Given the description of an element on the screen output the (x, y) to click on. 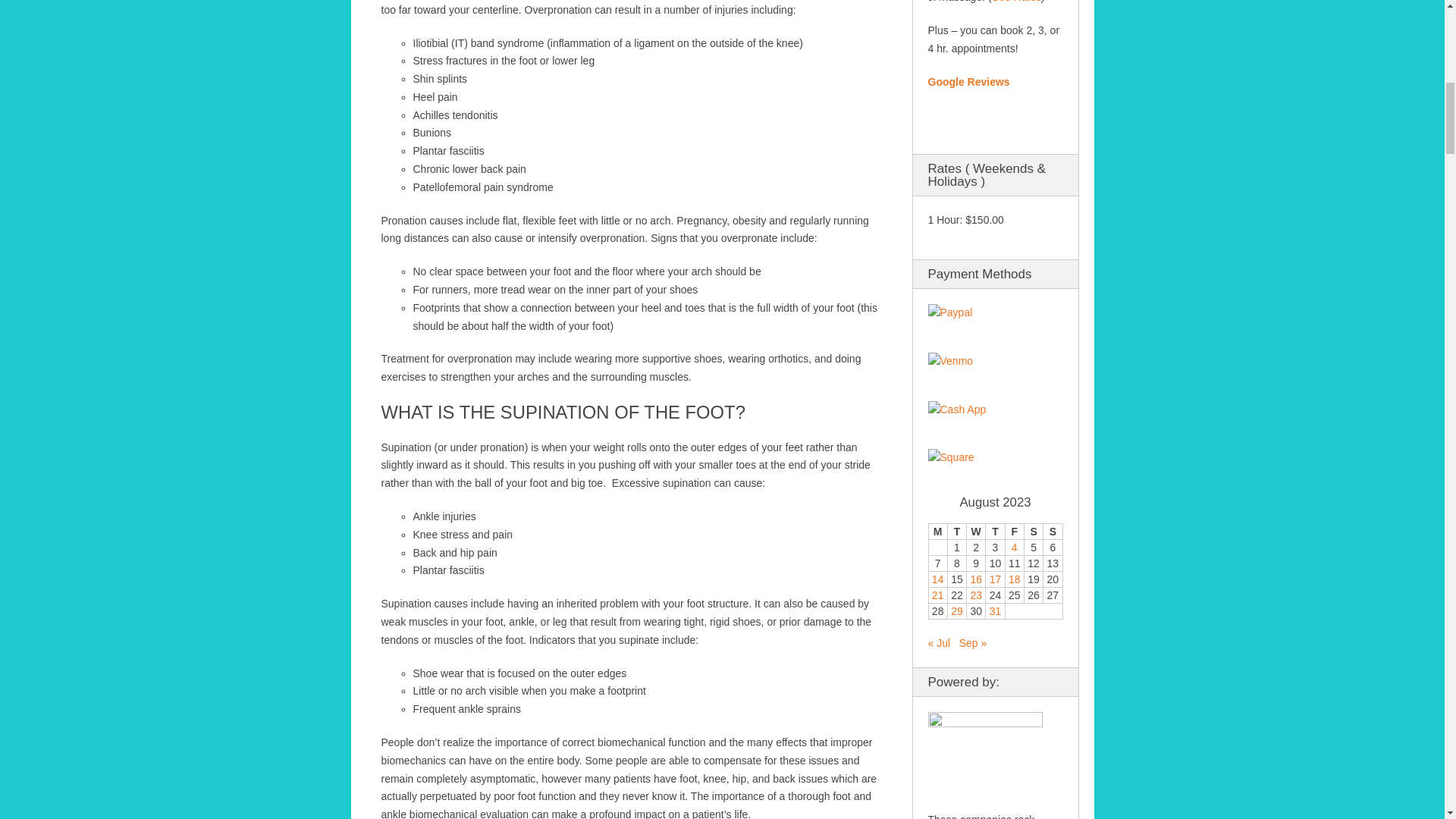
Payment Methods (950, 312)
Thursday (994, 531)
Wednesday (975, 531)
Tuesday (956, 531)
Monday (937, 531)
